Given the description of an element on the screen output the (x, y) to click on. 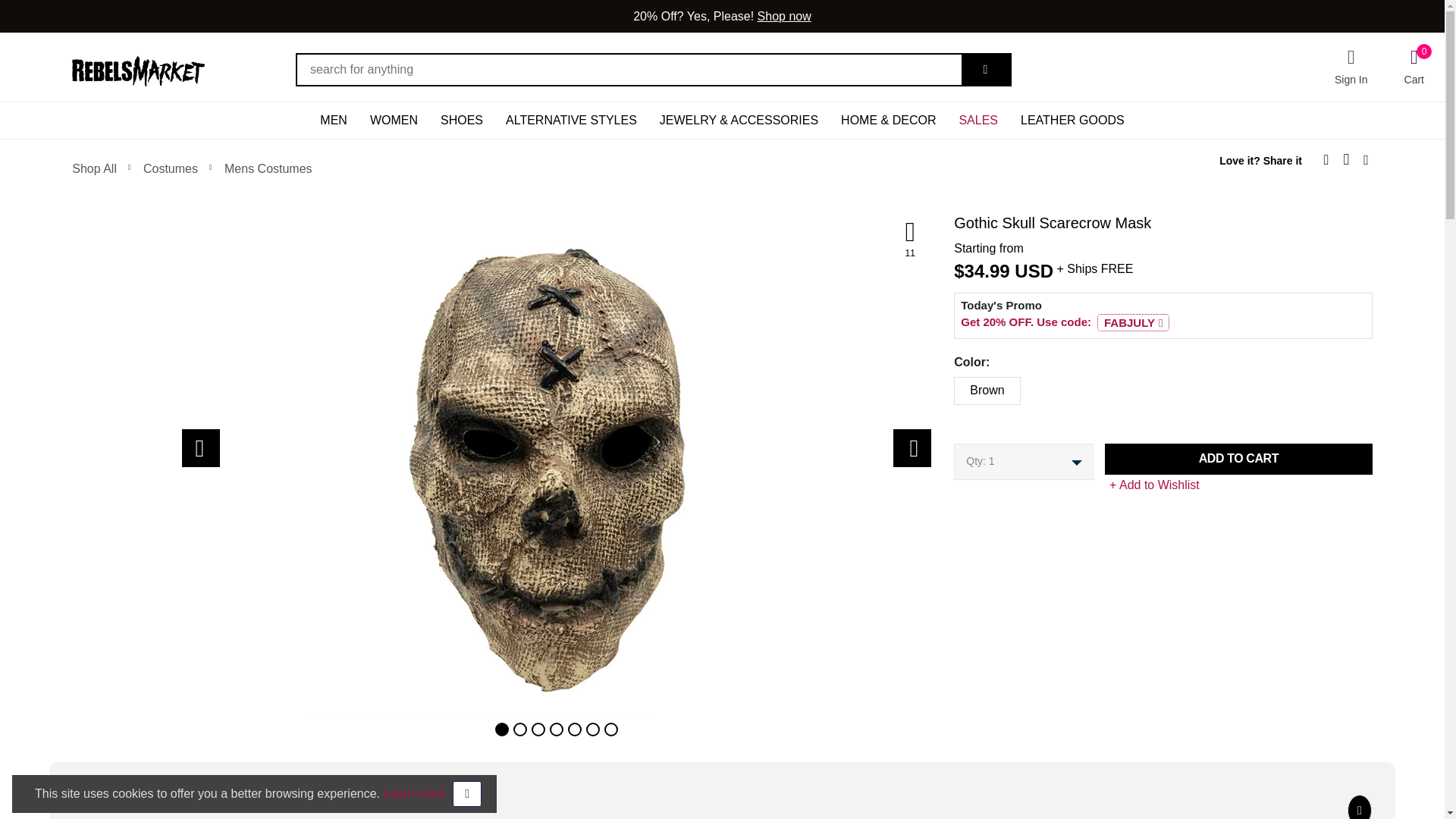
Sign In (1351, 66)
Brown (949, 386)
34.99 (986, 271)
USD (1033, 271)
MEN (333, 119)
WOMEN (393, 119)
